Given the description of an element on the screen output the (x, y) to click on. 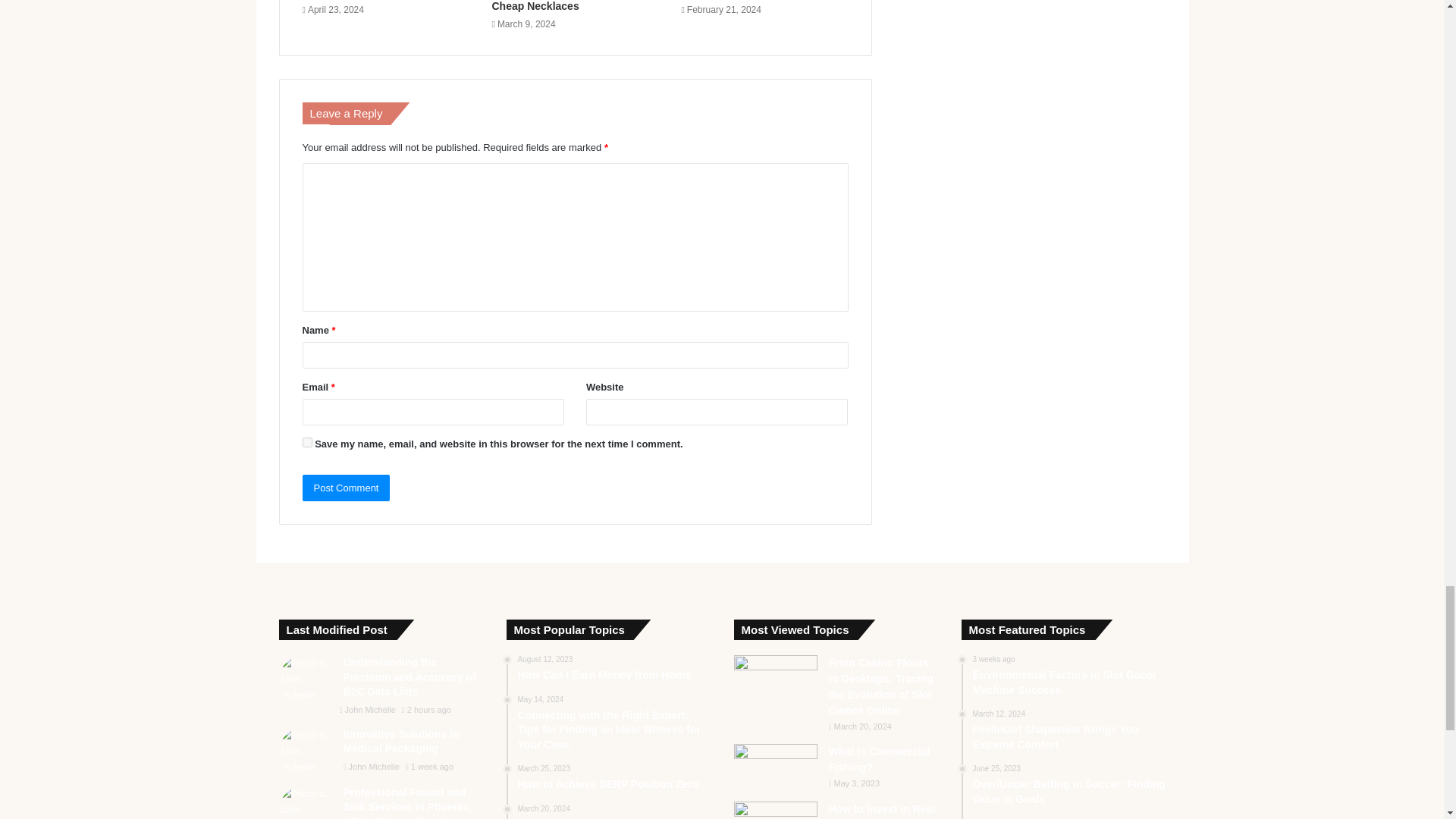
Post Comment (345, 488)
yes (306, 442)
